Given the description of an element on the screen output the (x, y) to click on. 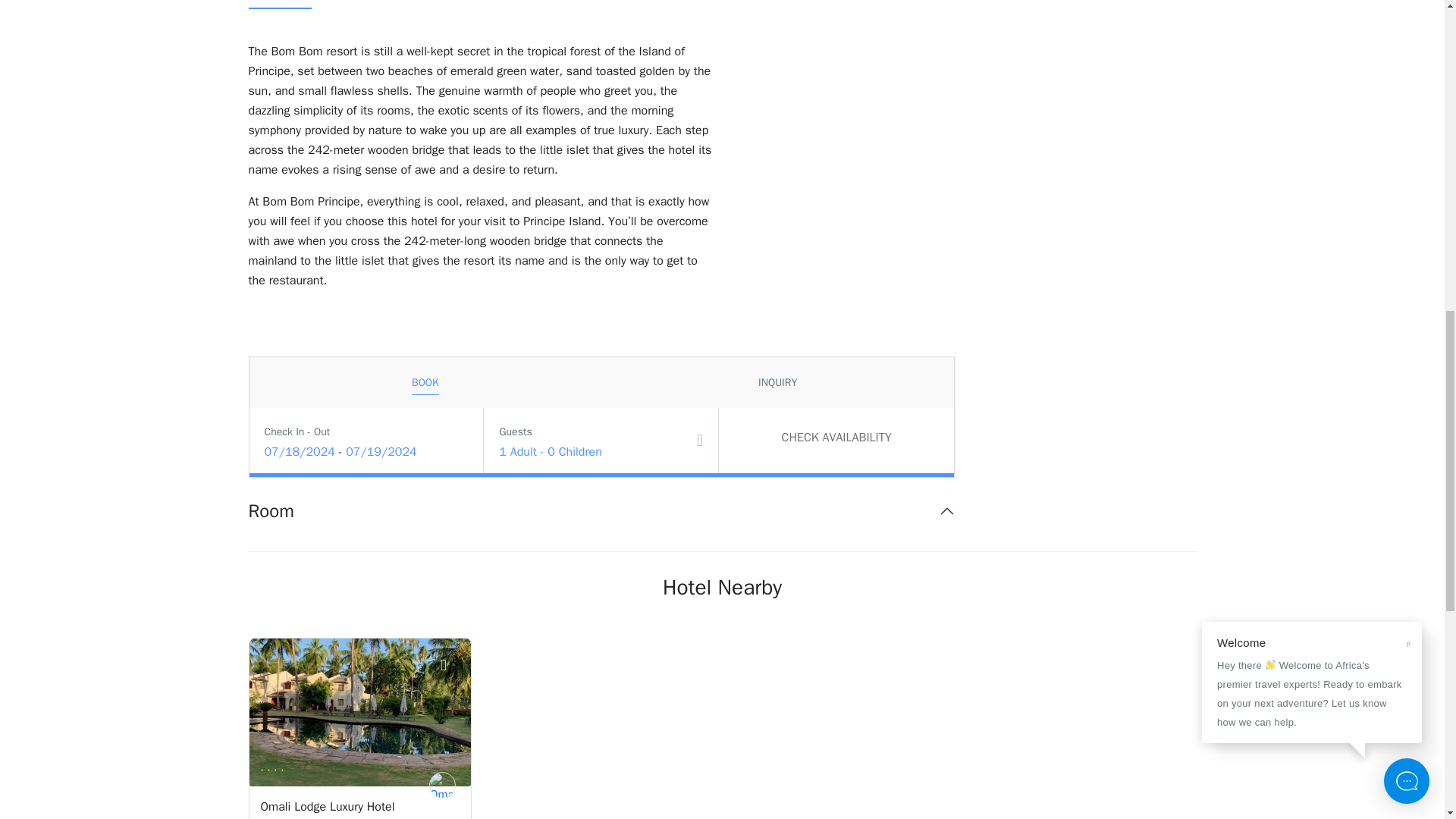
Check Availability (836, 437)
emmanuel (442, 785)
Add to wishlist (452, 666)
